Given the description of an element on the screen output the (x, y) to click on. 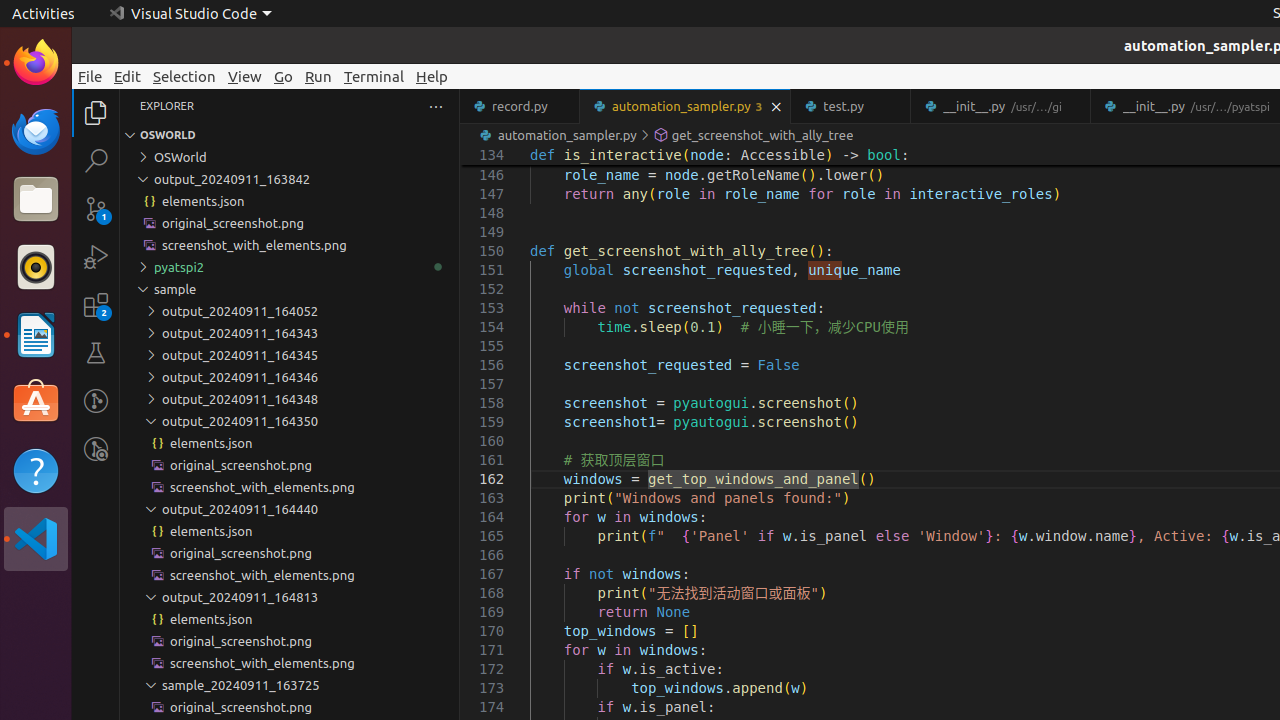
Source Control (Ctrl+Shift+G G) - 1 pending changes Element type: page-tab (96, 208)
pyatspi2 Element type: tree-item (289, 267)
output_20240911_164440 Element type: tree-item (289, 509)
